Given the description of an element on the screen output the (x, y) to click on. 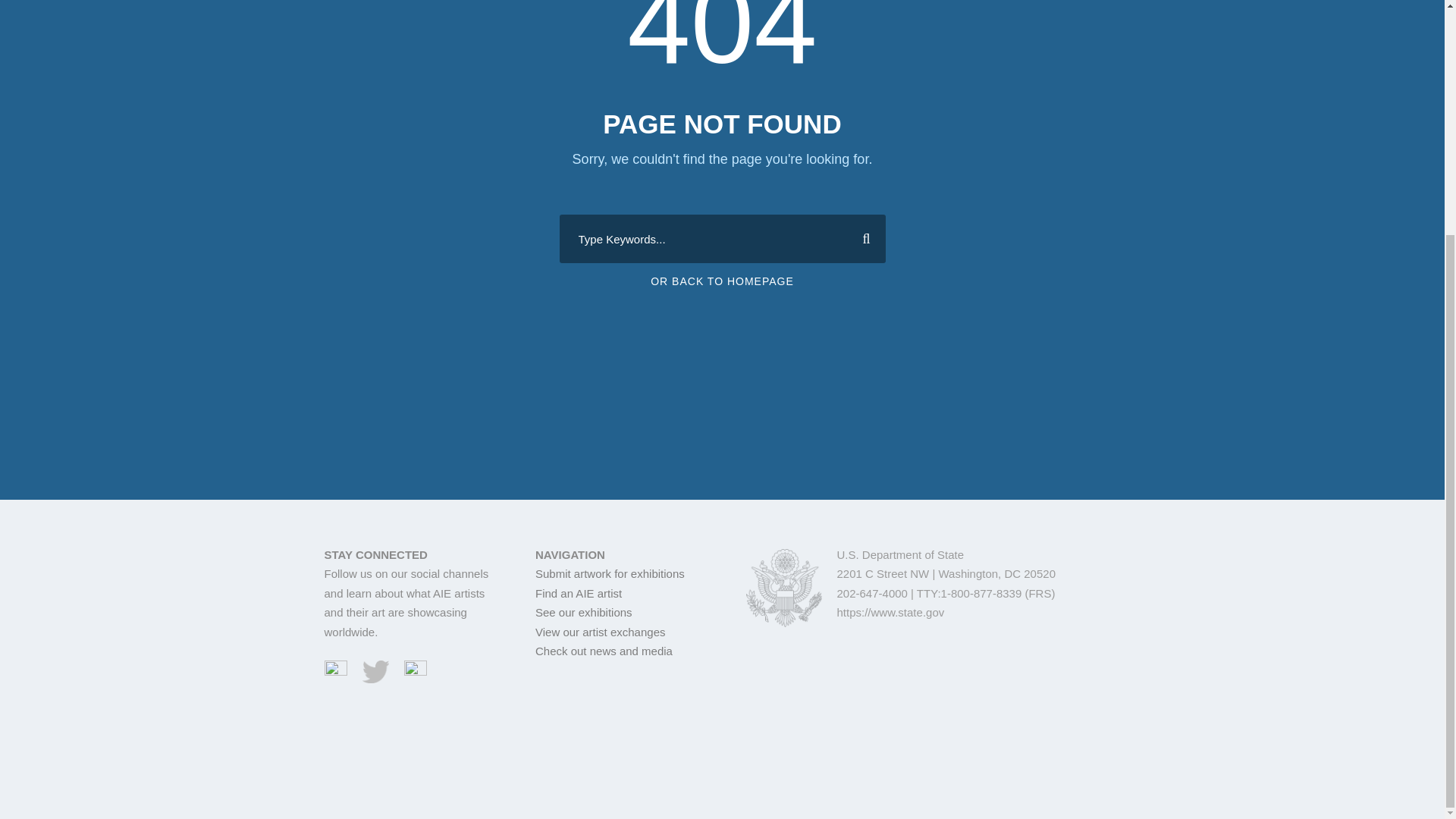
See our exhibitions (583, 612)
Find an AIE artist (578, 593)
Search (860, 238)
OR BACK TO HOMEPAGE (721, 281)
Submit artwork for exhibitions (609, 573)
